Given the description of an element on the screen output the (x, y) to click on. 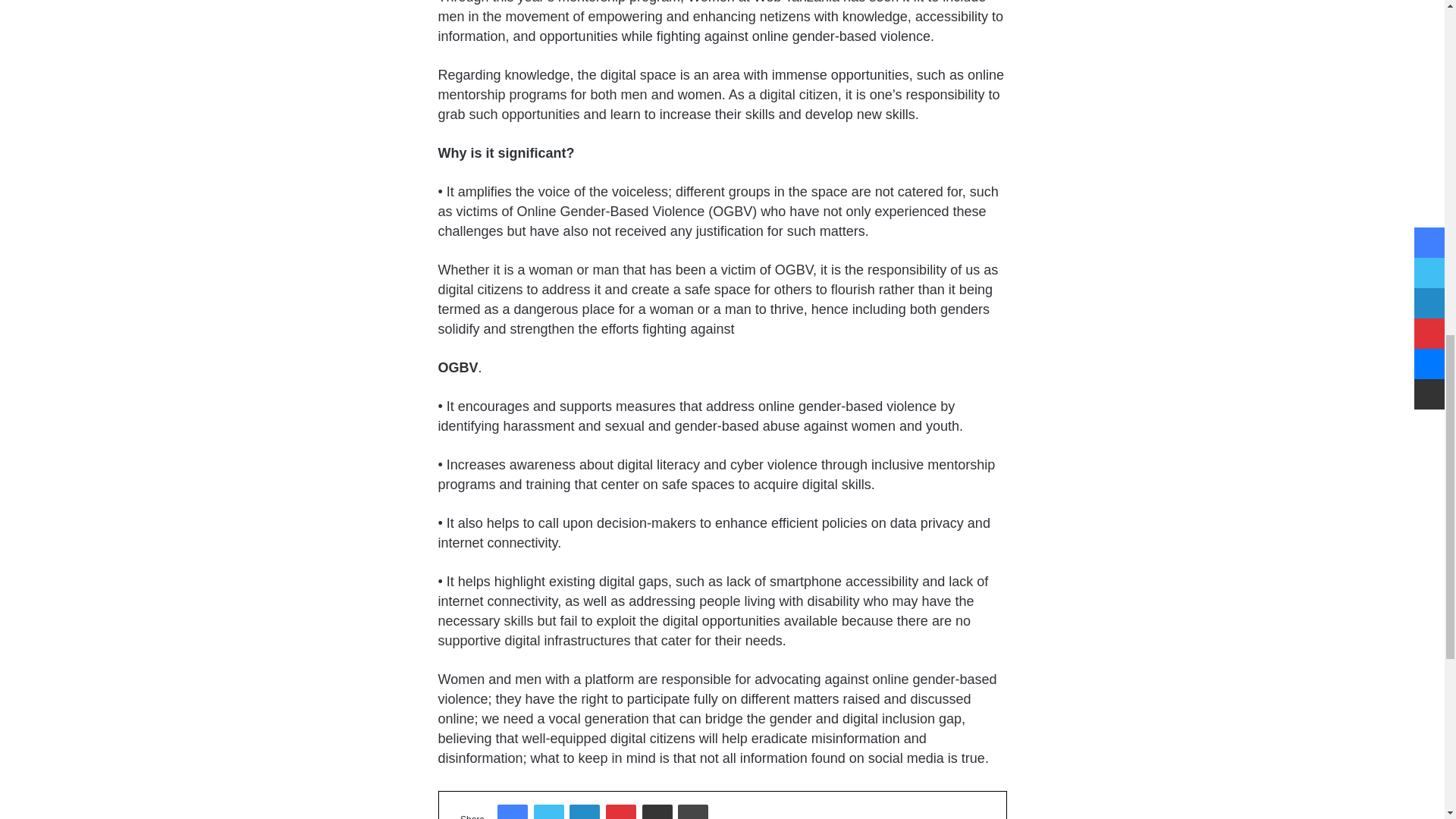
Share via Email (656, 811)
Twitter (549, 811)
Facebook (512, 811)
Pinterest (620, 811)
Print (692, 811)
LinkedIn (584, 811)
